Given the description of an element on the screen output the (x, y) to click on. 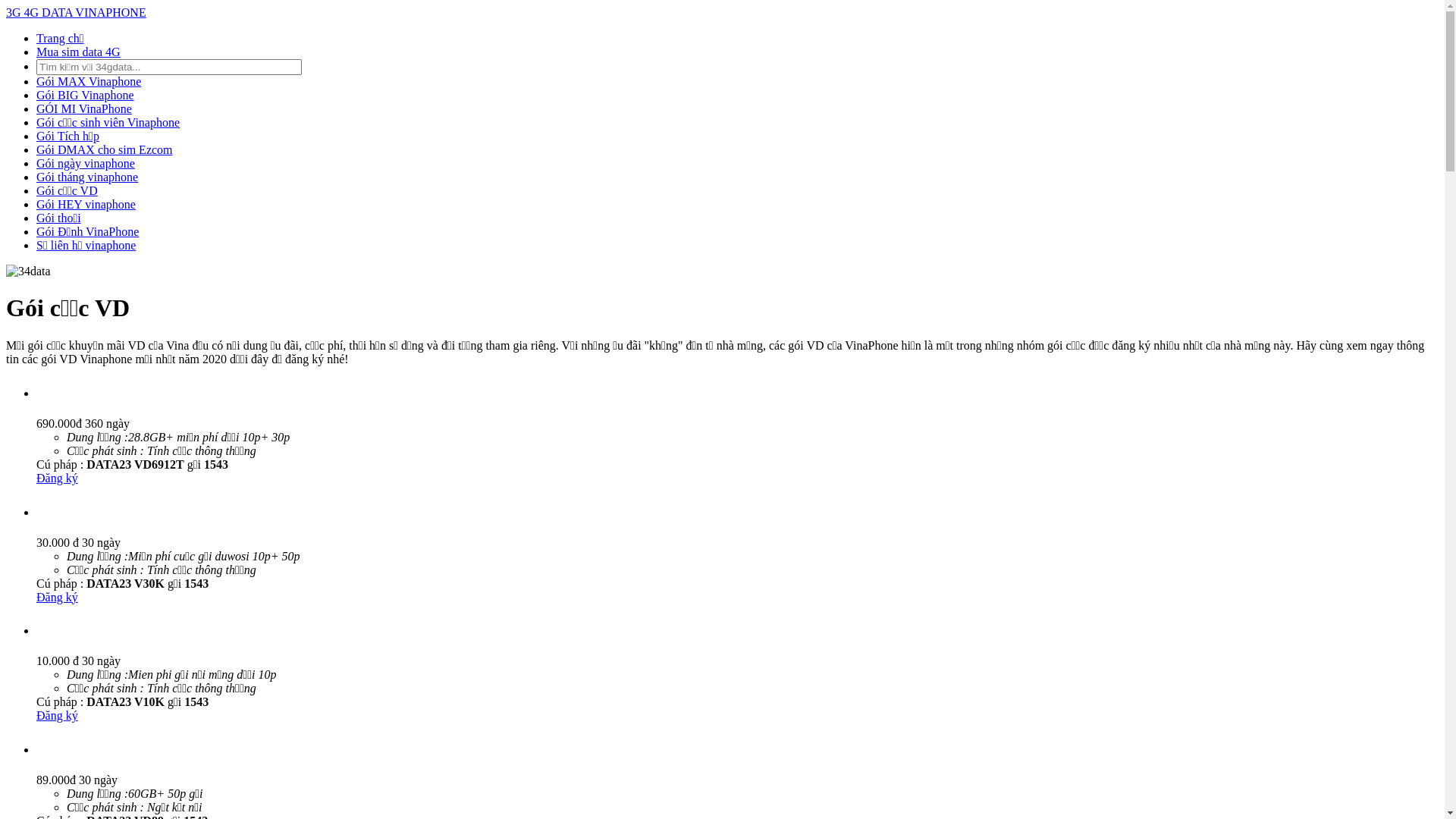
3G 4G DATA VINAPHONE Element type: text (76, 12)
Mua sim data 4G Element type: text (78, 51)
